Given the description of an element on the screen output the (x, y) to click on. 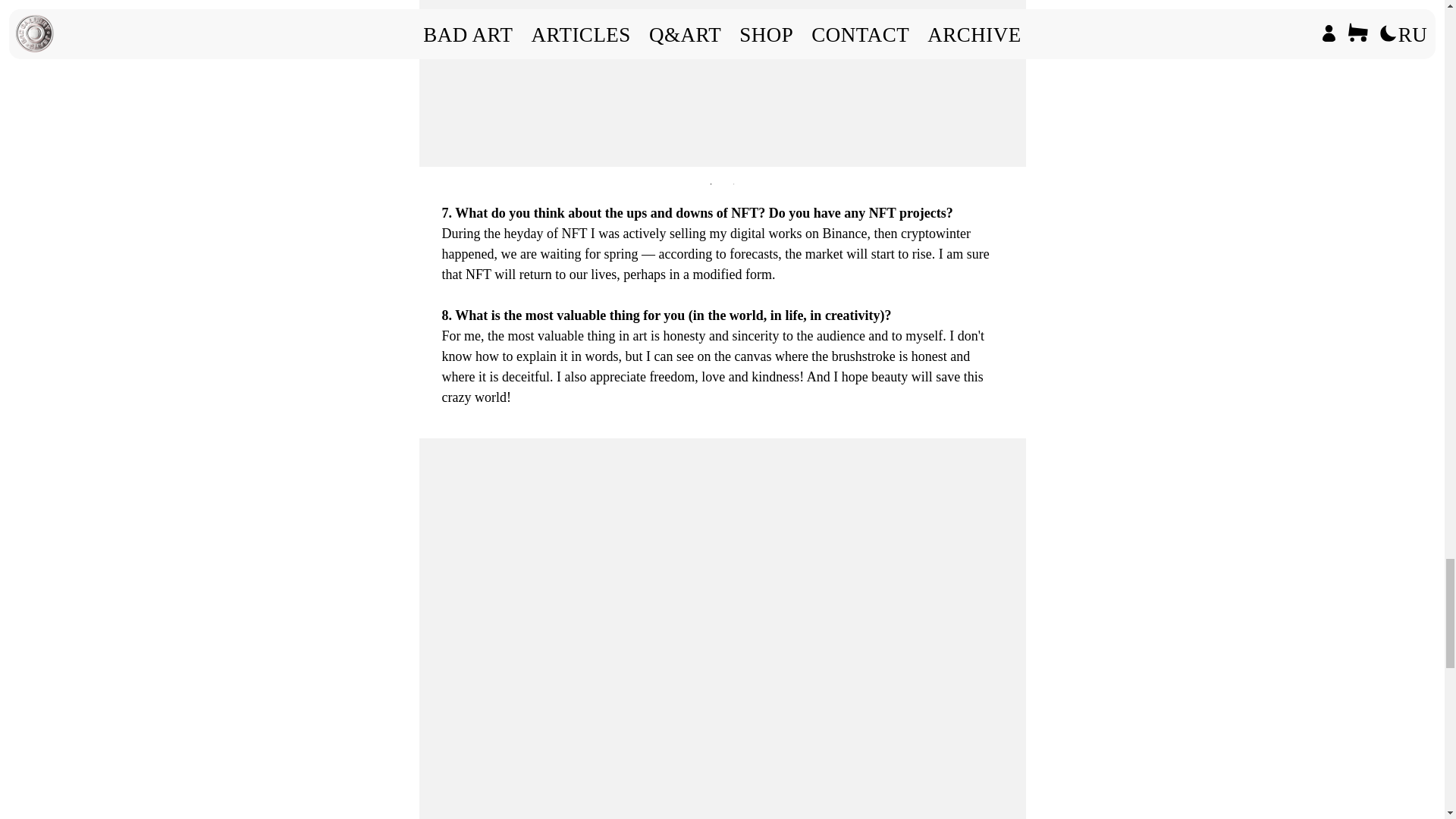
1 (711, 183)
2 (733, 183)
